Given the description of an element on the screen output the (x, y) to click on. 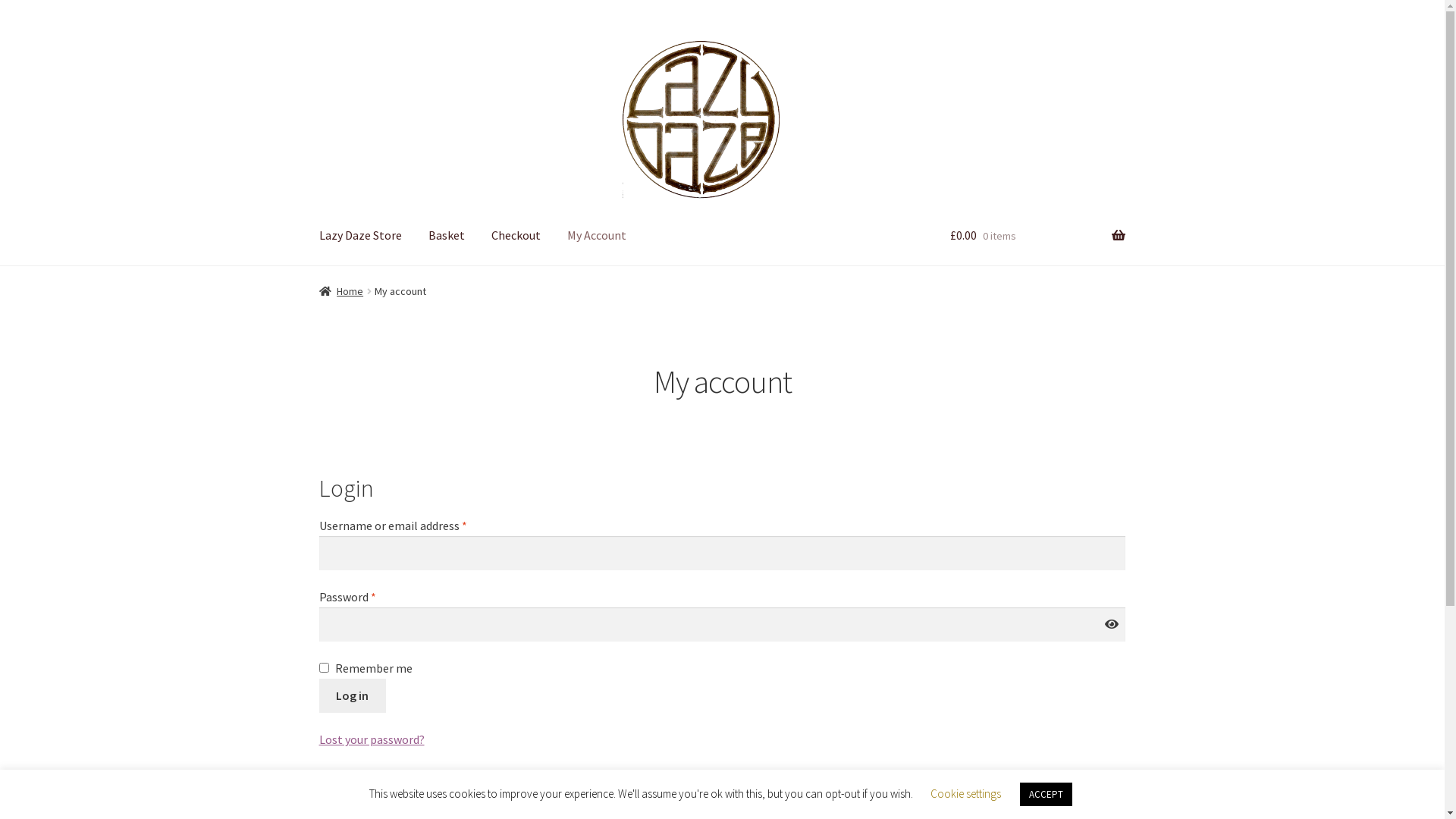
Cookie settings Element type: text (964, 793)
ACCEPT Element type: text (1045, 794)
My Account Element type: text (596, 235)
Skip to navigation Element type: text (318, 31)
Lazy Daze Store Element type: text (360, 235)
Lost your password? Element type: text (371, 738)
Home Element type: text (341, 291)
Checkout Element type: text (515, 235)
Basket Element type: text (446, 235)
Log in Element type: text (352, 695)
